Given the description of an element on the screen output the (x, y) to click on. 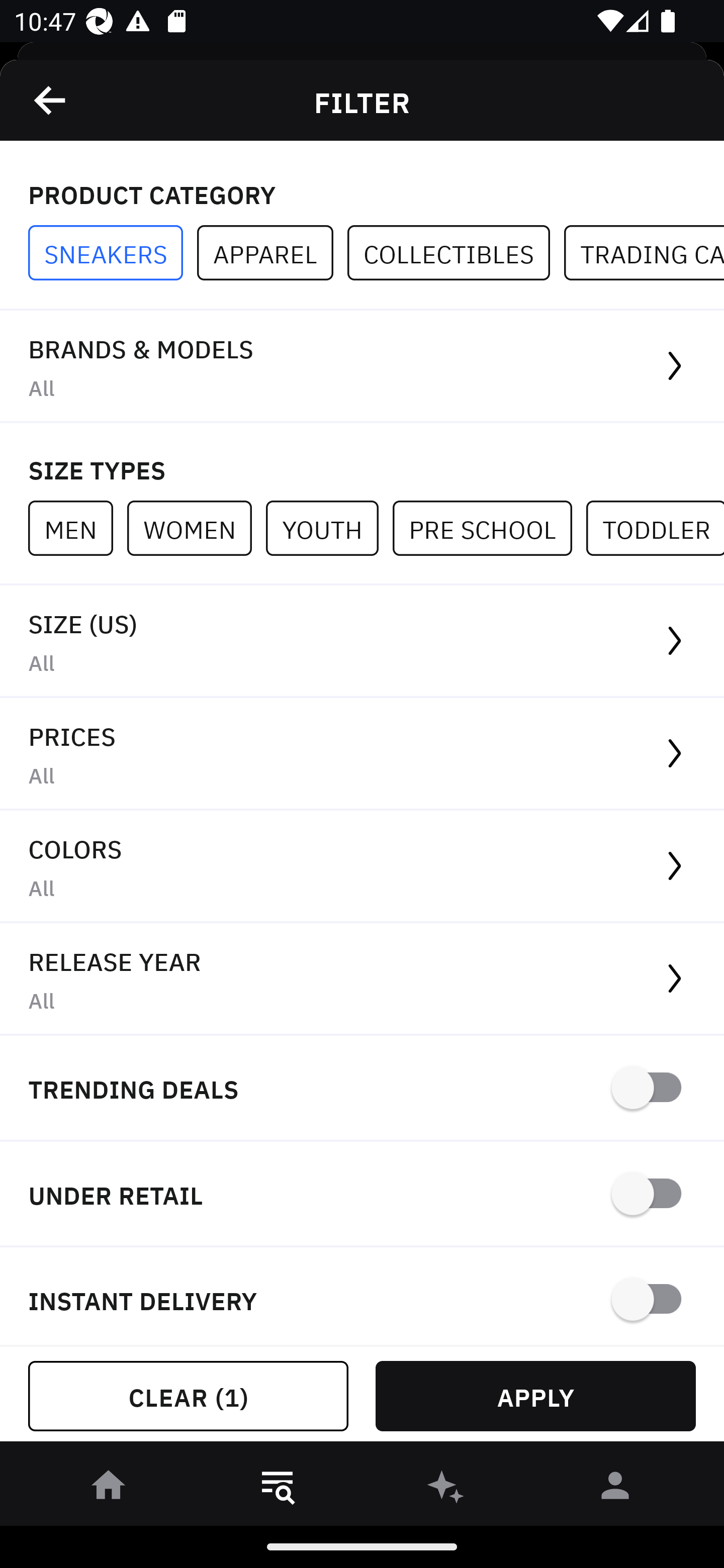
 (50, 100)
SNEAKERS (112, 252)
APPAREL (271, 252)
COLLECTIBLES (455, 252)
TRADING CARDS (643, 252)
BRANDS & MODELS All (362, 366)
MEN (77, 527)
WOMEN (196, 527)
YOUTH (328, 527)
PRE SCHOOL (489, 527)
TODDLER (655, 527)
SIZE (US) All (362, 640)
PRICES All (362, 753)
COLORS All (362, 866)
RELEASE YEAR All (362, 979)
TRENDING DEALS (362, 1088)
UNDER RETAIL (362, 1194)
INSTANT DELIVERY (362, 1296)
CLEAR (1) (188, 1396)
APPLY (535, 1396)
󰋜 (108, 1488)
󱎸 (277, 1488)
󰫢 (446, 1488)
󰀄 (615, 1488)
